Given the description of an element on the screen output the (x, y) to click on. 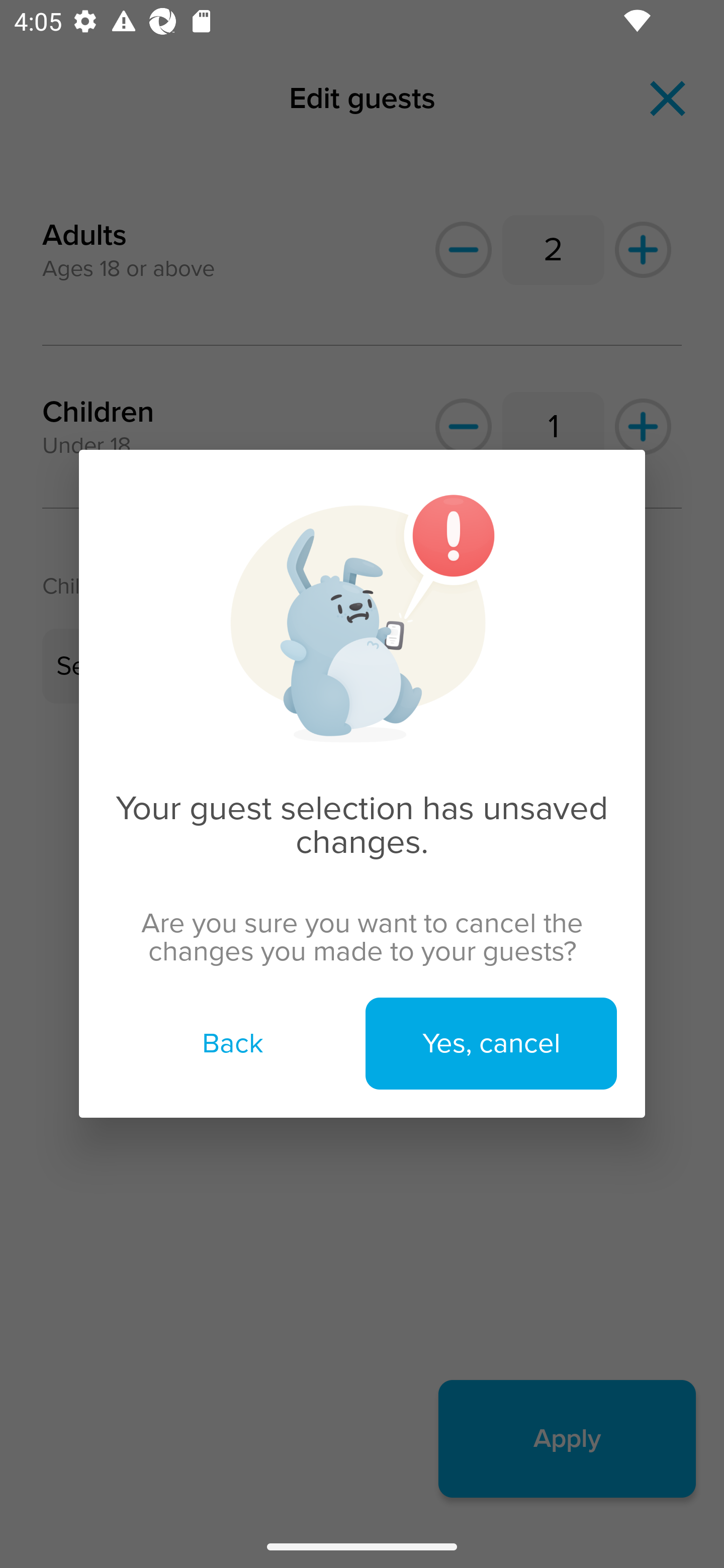
Back (232, 1043)
Yes, cancel (490, 1043)
